Given the description of an element on the screen output the (x, y) to click on. 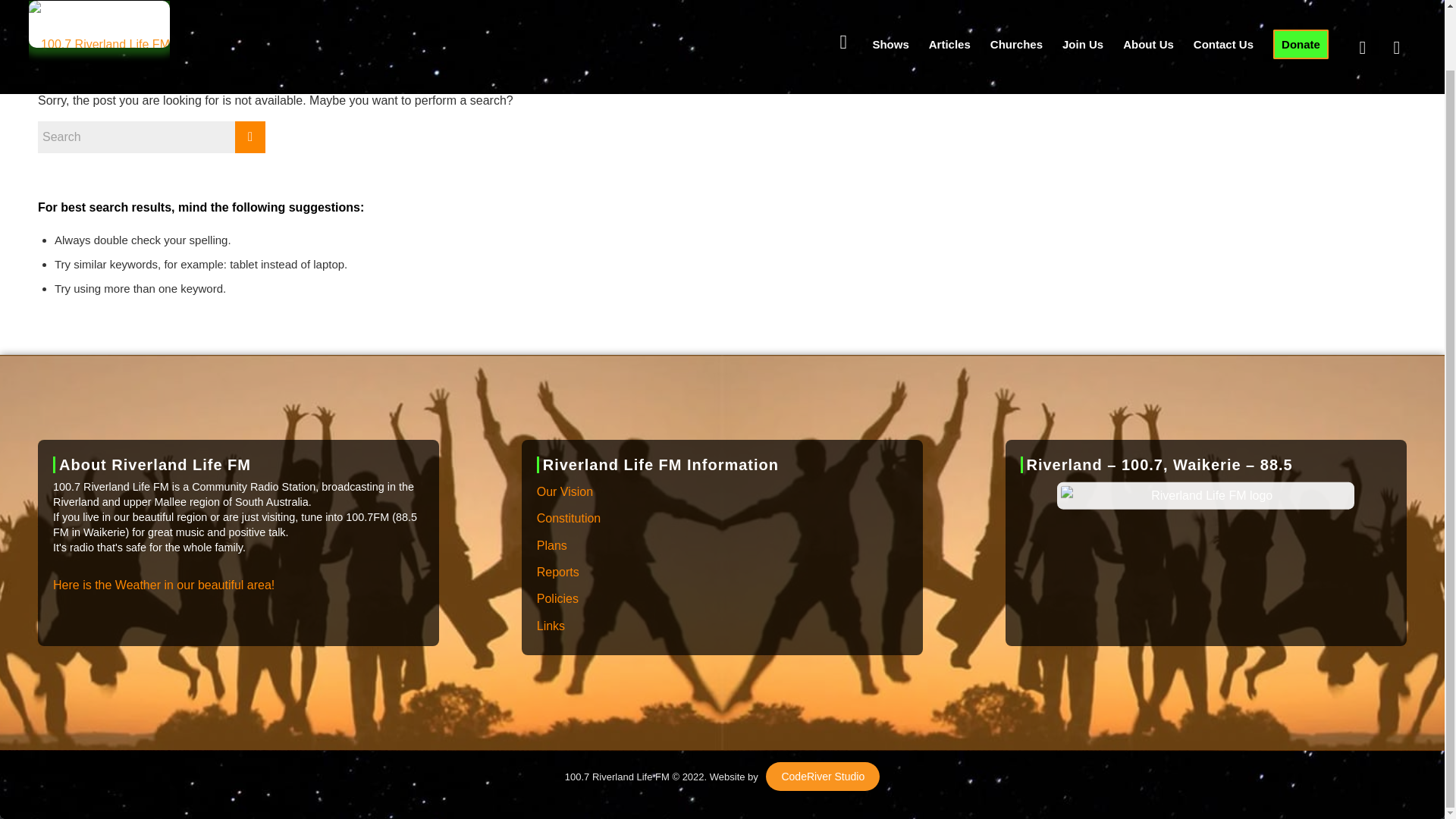
Churches (1015, 11)
Plans (722, 546)
Contact Us (1223, 11)
Constitution (722, 519)
Donate (1300, 11)
Here is the Weather in our beautiful area! (163, 585)
Shows (889, 11)
Articles (948, 11)
Our Vision (722, 492)
About Us (1148, 11)
